Given the description of an element on the screen output the (x, y) to click on. 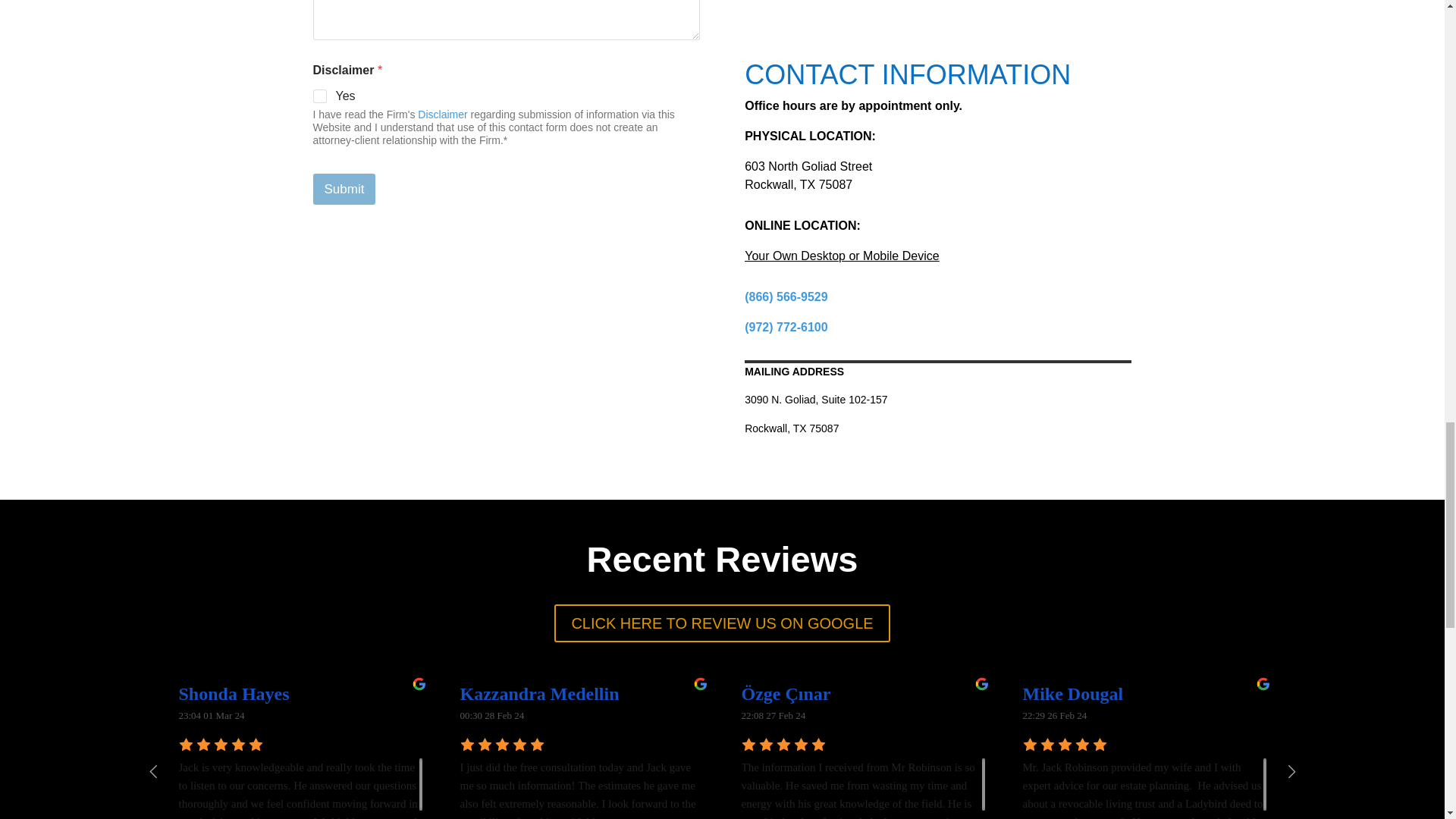
CLICK HERE TO REVIEW US ON GOOGLE (721, 623)
Submit (344, 188)
Yes (320, 96)
Shonda Hayes (236, 693)
Your Own Desktop or Mobile Device (841, 255)
Disclaimer (442, 114)
